Given the description of an element on the screen output the (x, y) to click on. 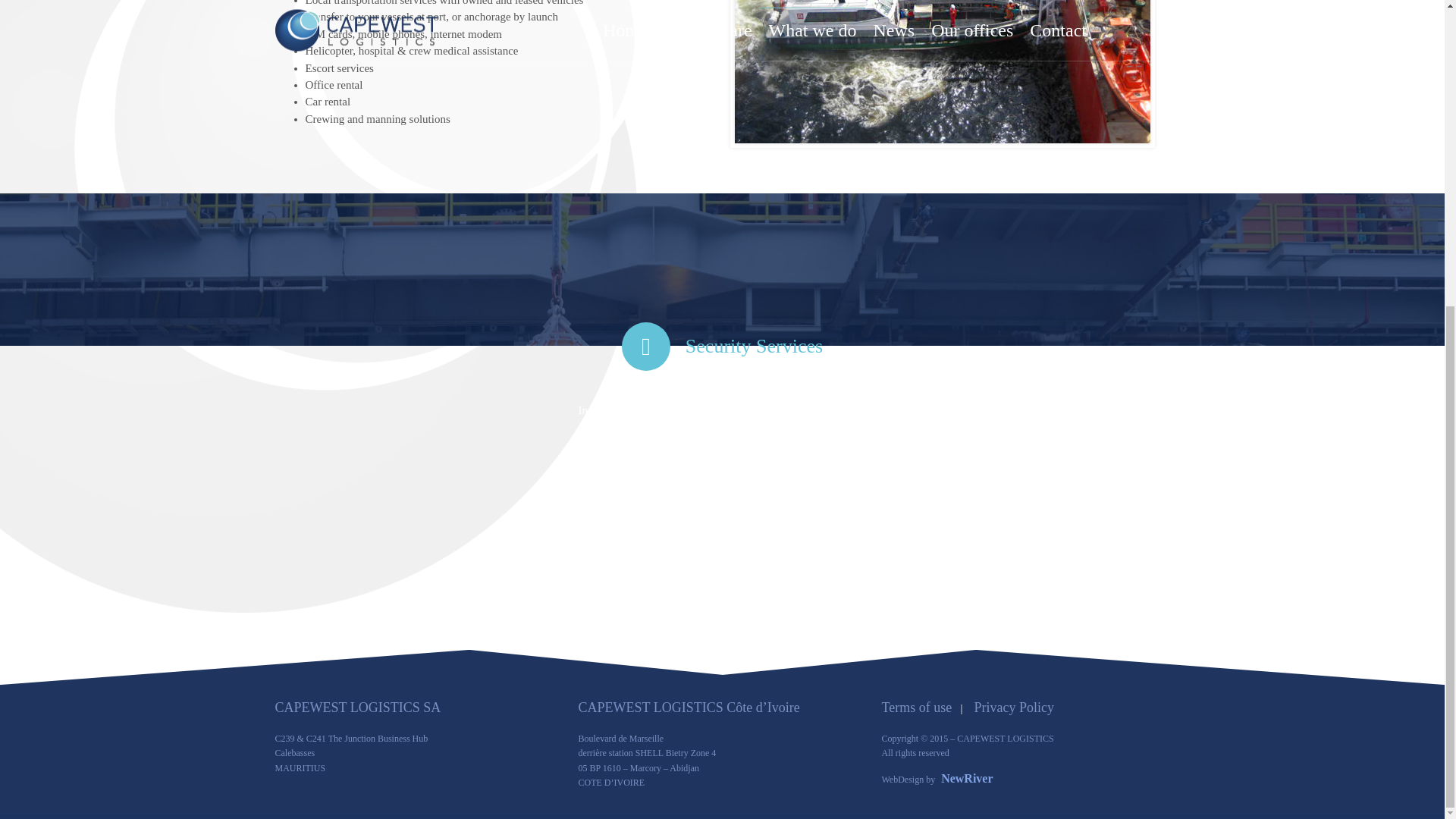
NewRiver (966, 778)
Privacy Policy (1014, 707)
Terms of use (916, 707)
